Given the description of an element on the screen output the (x, y) to click on. 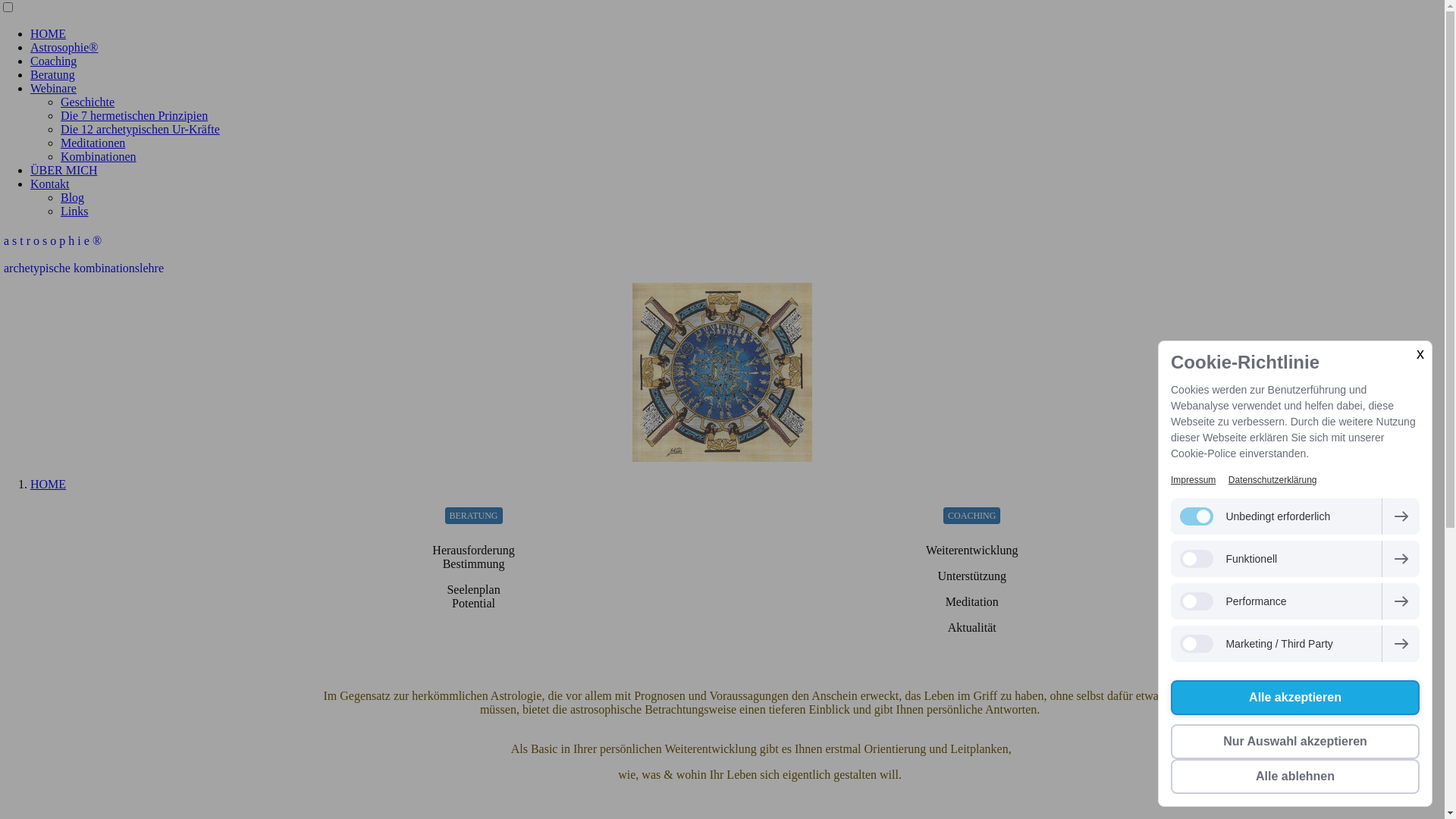
Kontakt Element type: text (49, 183)
Die 7 hermetischen Prinzipien Element type: text (133, 115)
HOME Element type: text (47, 33)
Blog Element type: text (72, 197)
Meditationen Element type: text (92, 142)
HOME Element type: text (47, 483)
Geschichte Element type: text (87, 101)
Alle akzeptieren Element type: text (1294, 697)
Nur Auswahl akzeptieren Element type: text (1294, 741)
Links Element type: text (73, 210)
Kombinationen Element type: text (98, 156)
Coaching Element type: text (53, 60)
Alle ablehnen Element type: text (1294, 776)
Impressum Element type: text (1192, 479)
Beratung Element type: text (52, 74)
Webinare Element type: text (53, 87)
COACHING Element type: text (971, 515)
BERATUNG Element type: text (473, 515)
